Given the description of an element on the screen output the (x, y) to click on. 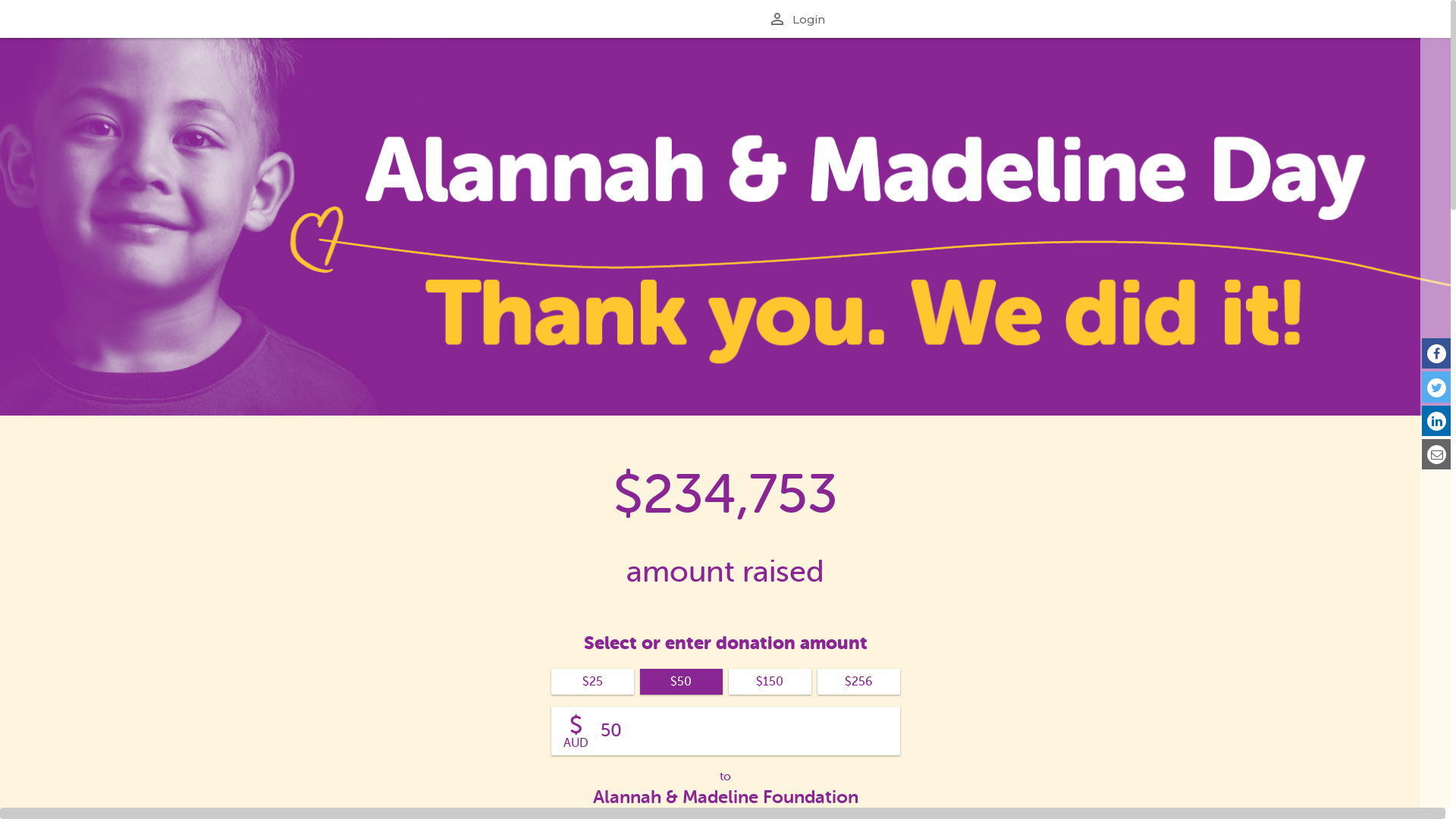
$256 Element type: text (858, 681)
$150 Element type: text (769, 681)
perm_identity
Login Element type: text (798, 18)
$50 Element type: text (681, 681)
$25 Element type: text (591, 681)
